Given the description of an element on the screen output the (x, y) to click on. 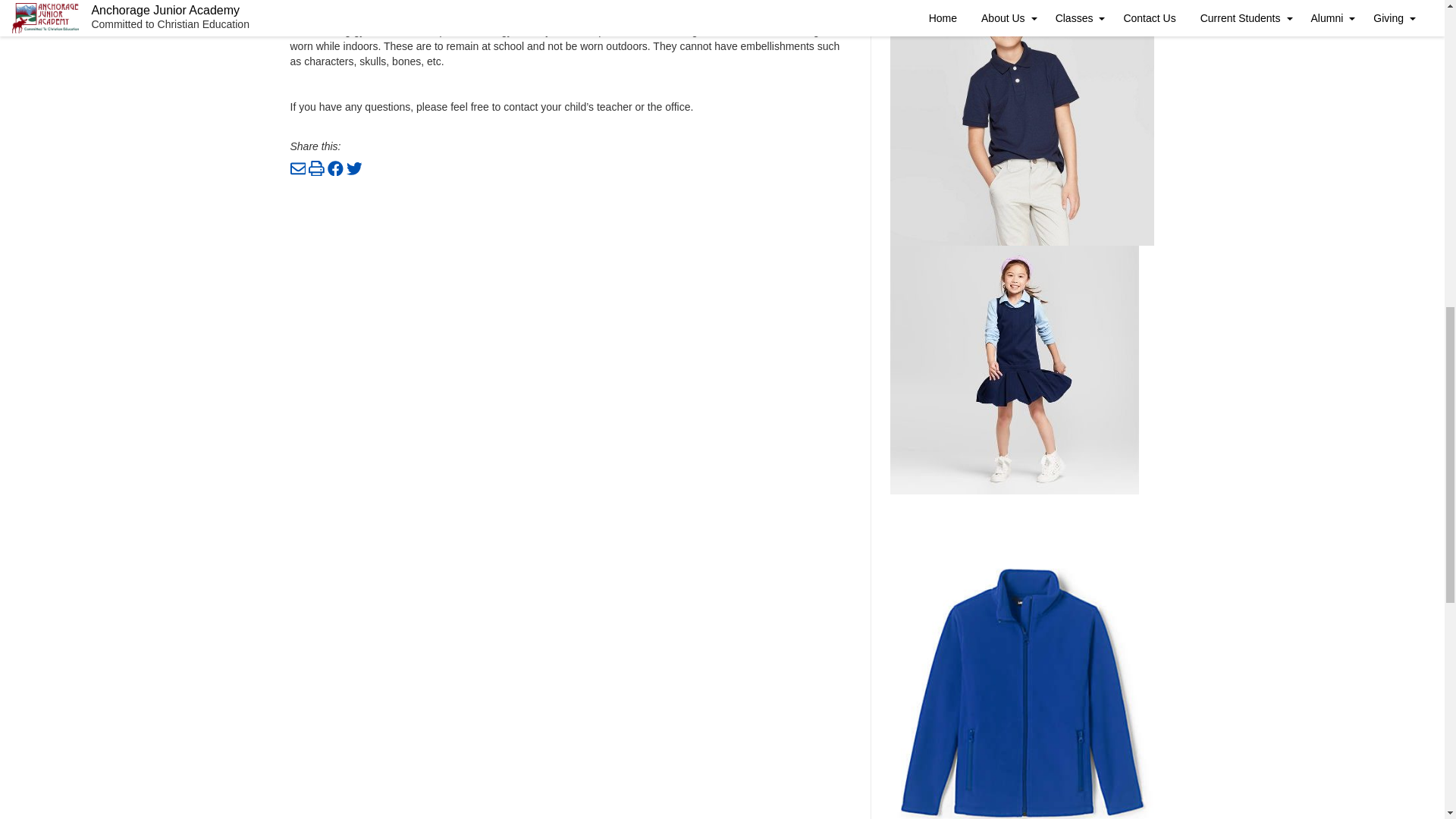
Email (297, 172)
Print (316, 172)
Twitter (354, 172)
Facebook (335, 172)
